Given the description of an element on the screen output the (x, y) to click on. 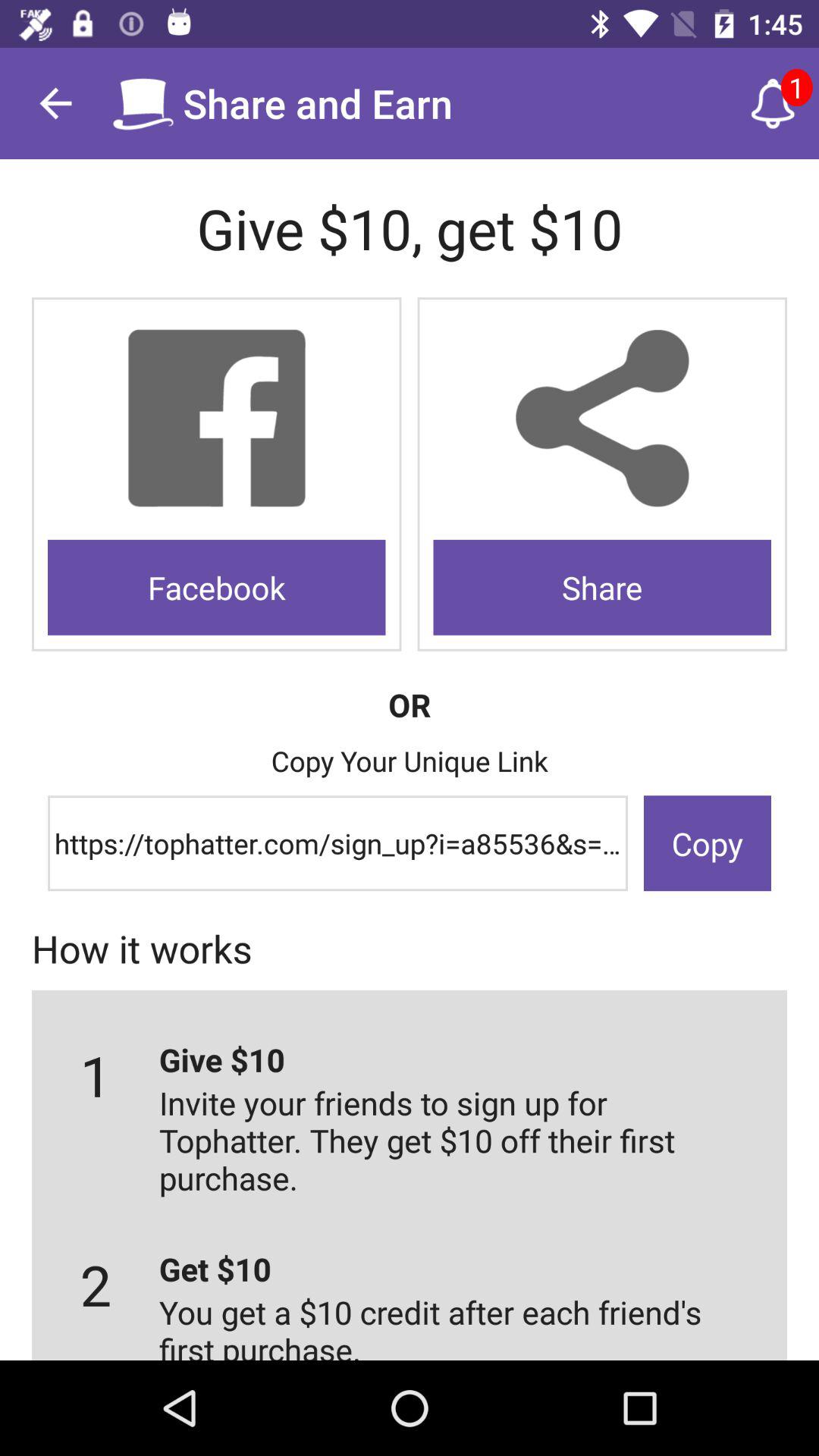
choose the item above give 10 get icon (772, 103)
